Given the description of an element on the screen output the (x, y) to click on. 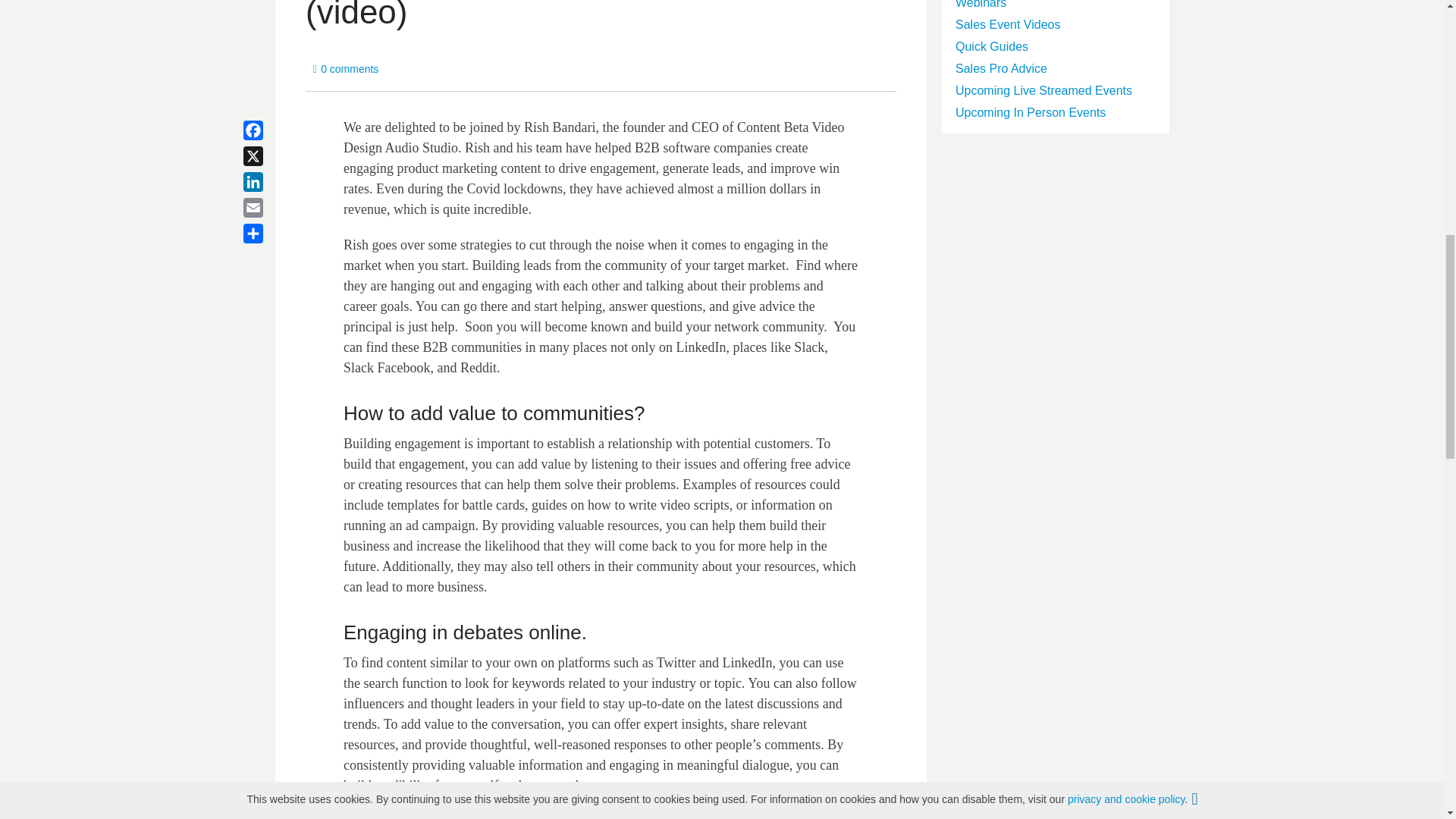
0 comments (345, 68)
X (271, 155)
Email (271, 207)
LinkedIn (271, 181)
Facebook (271, 130)
Email (271, 207)
LinkedIn (271, 181)
Facebook (271, 130)
X (271, 155)
